Given the description of an element on the screen output the (x, y) to click on. 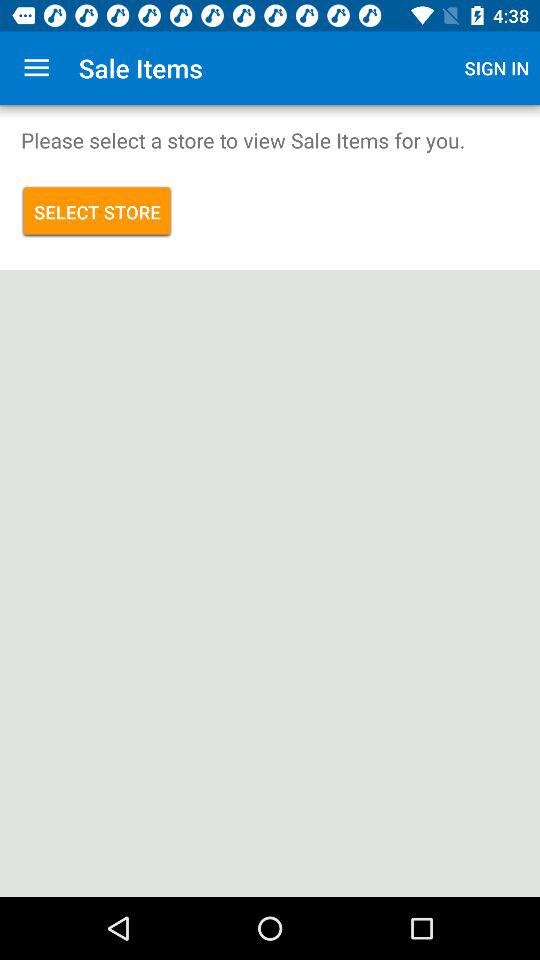
swipe until the sign in item (497, 67)
